Given the description of an element on the screen output the (x, y) to click on. 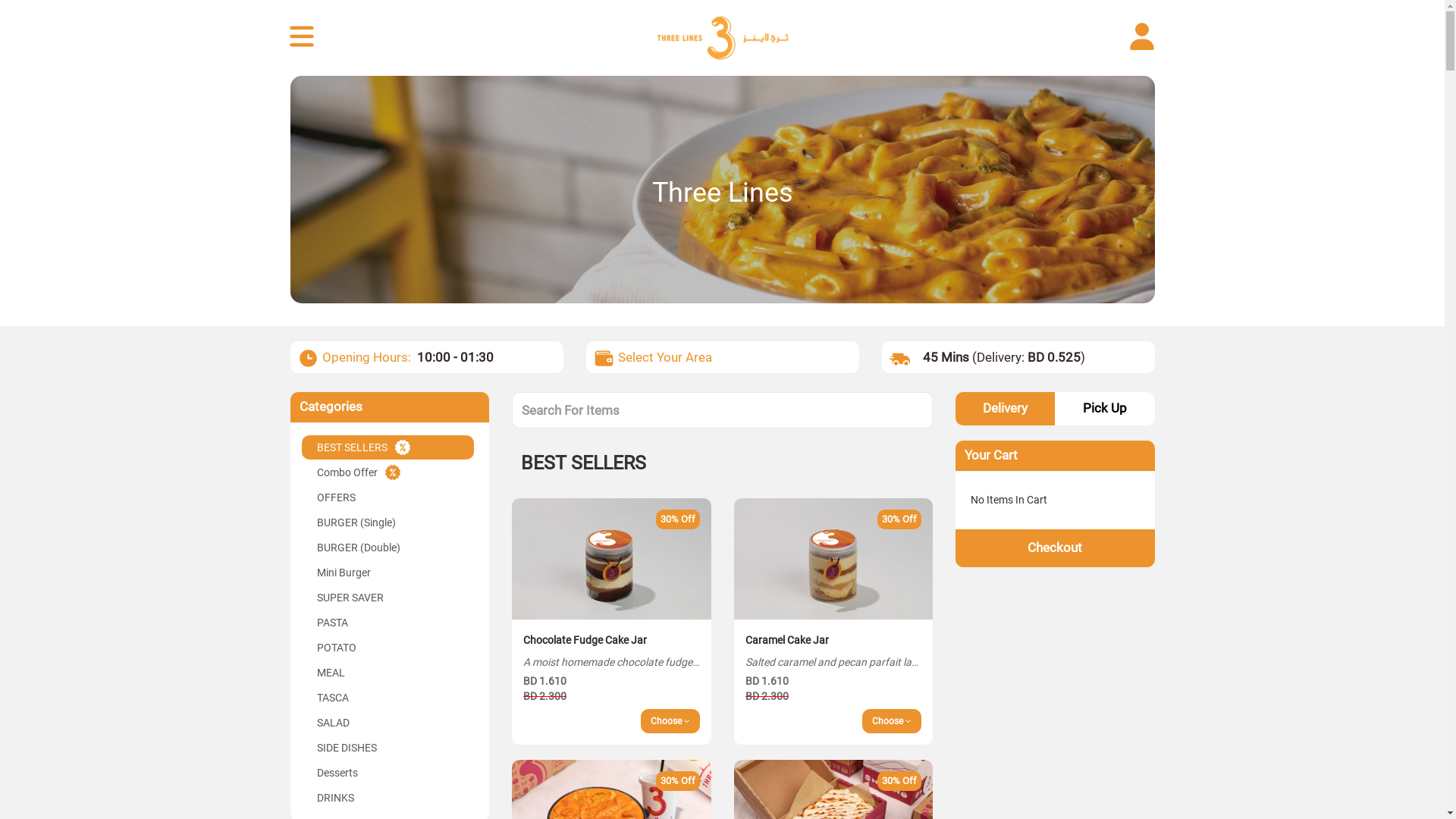
Caramel Cake Jar Element type: hover (833, 558)
Opening Hours: Element type: text (365, 356)
OFFERS Element type: text (387, 497)
TASCA Element type: text (387, 697)
BURGER (Double) Element type: text (387, 547)
SIDE DISHES Element type: text (387, 747)
BEST SELLERS Element type: text (387, 447)
Chocolate Fudge Cake Jar  Element type: hover (611, 558)
BURGER (Single) Element type: text (387, 522)
Live Tracking Element type: hover (303, 37)
PASTA Element type: text (387, 622)
Select Your Area Element type: text (664, 356)
DRINKS Element type: text (387, 797)
MEAL Element type: text (387, 672)
Desserts Element type: text (387, 772)
Pick Up Element type: text (1104, 408)
SUPER SAVER Element type: text (387, 597)
Combo Offer Element type: text (387, 472)
Login/Register Element type: hover (1143, 37)
Delivery Element type: text (1004, 408)
Mini Burger Element type: text (387, 572)
Checkout Element type: text (1054, 548)
SALAD Element type: text (387, 722)
POTATO Element type: text (387, 647)
